Given the description of an element on the screen output the (x, y) to click on. 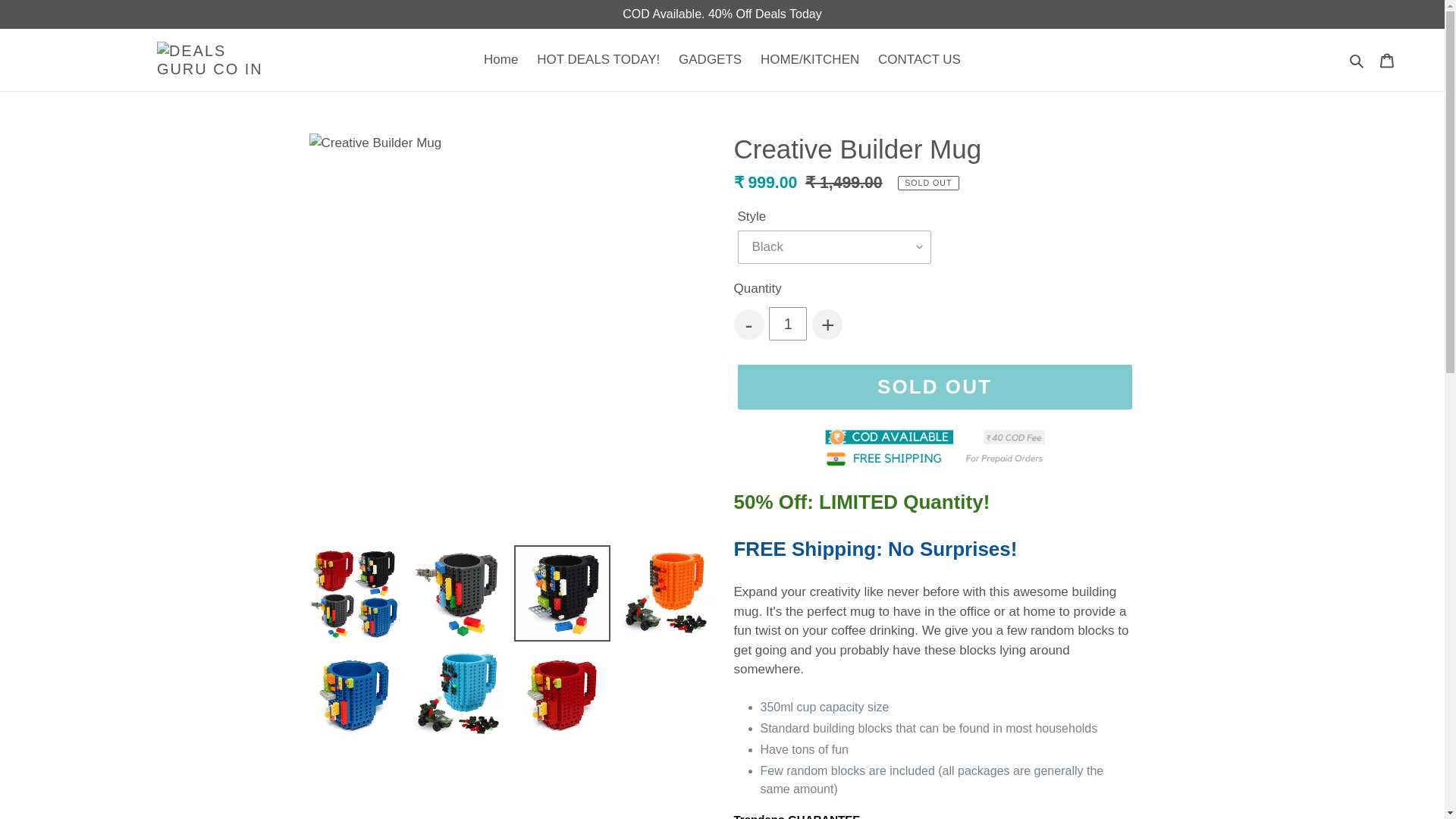
1 (787, 323)
SOLD OUT (933, 386)
GADGETS (710, 59)
CONTACT US (919, 59)
HOT DEALS TODAY! (597, 59)
Cart (1387, 59)
Home (500, 59)
Search (1357, 59)
